Given the description of an element on the screen output the (x, y) to click on. 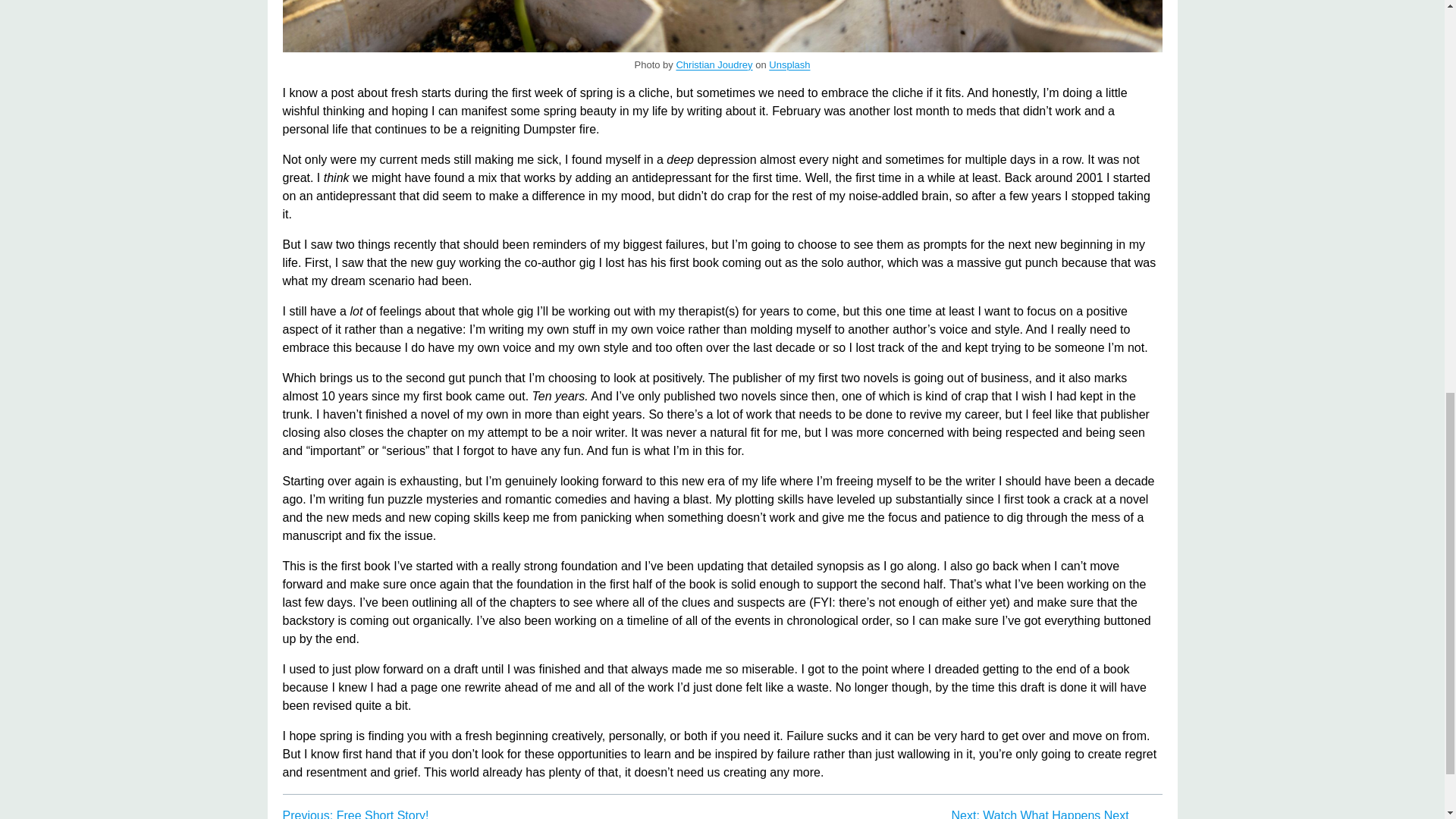
Previous: Free Short Story! (355, 814)
Christian Joudrey (713, 64)
Next: Watch What Happens Next (1039, 814)
Unsplash (788, 64)
